Given the description of an element on the screen output the (x, y) to click on. 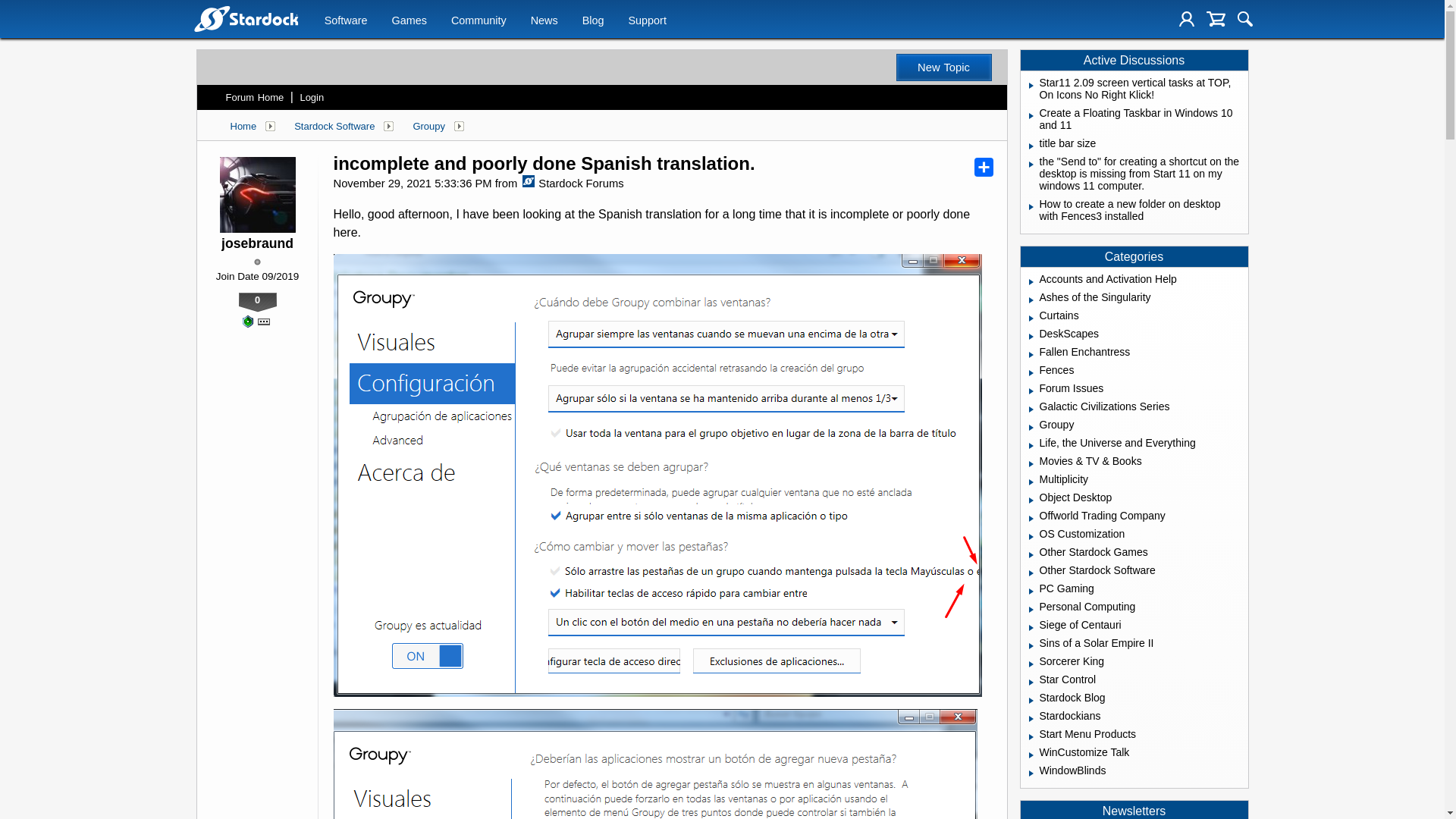
View all awards (263, 321)
Stardock Forums (528, 181)
Click user name to view more options. (257, 243)
Shopping Cart (1216, 17)
Search Stardock (1244, 17)
incomplete and poorly done Spanish translation. (544, 163)
Login (1186, 17)
View josebraund's Karma (257, 302)
Novice Poster - Created 5 Posts (247, 321)
Stardock Logo (244, 18)
Rank: 1 (256, 261)
